Given the description of an element on the screen output the (x, y) to click on. 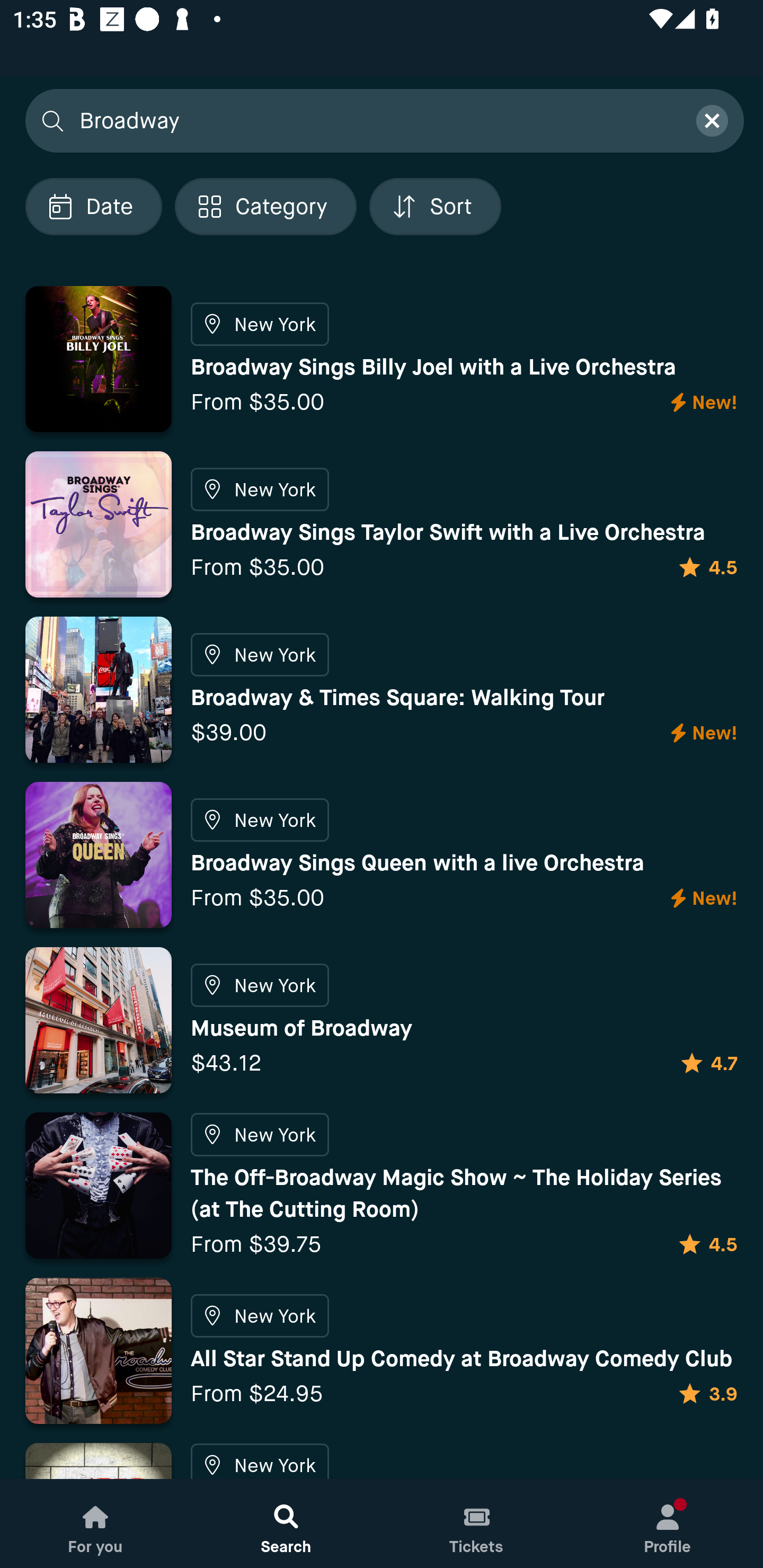
Broadway (376, 120)
Localized description Date (93, 205)
Localized description Category (265, 205)
Localized description Sort (435, 205)
For you (95, 1523)
Tickets (476, 1523)
Profile, New notification Profile (667, 1523)
